Given the description of an element on the screen output the (x, y) to click on. 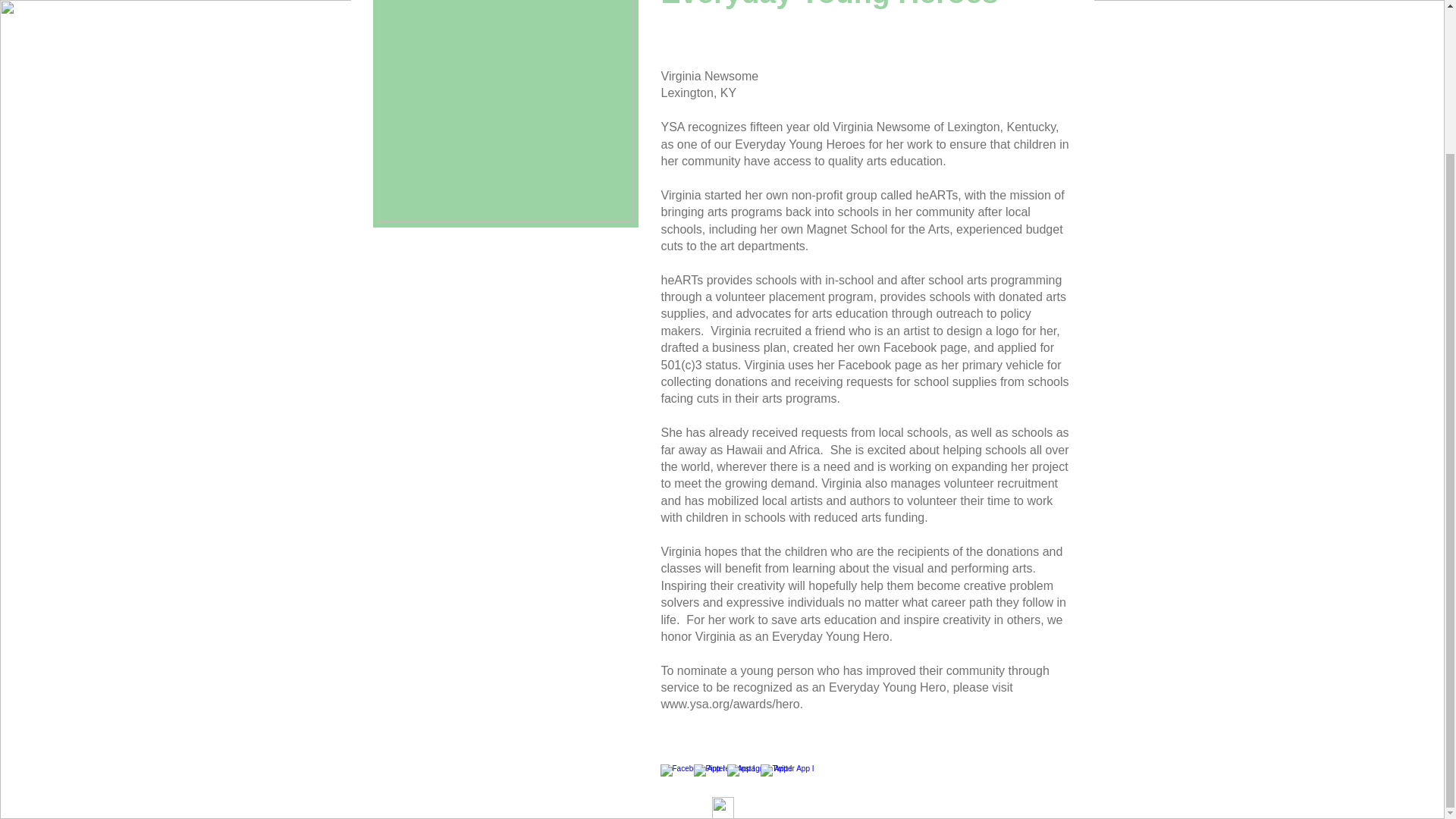
BCom Solutions. (798, 745)
2015 Digital marketing courtesy of (684, 745)
